Given the description of an element on the screen output the (x, y) to click on. 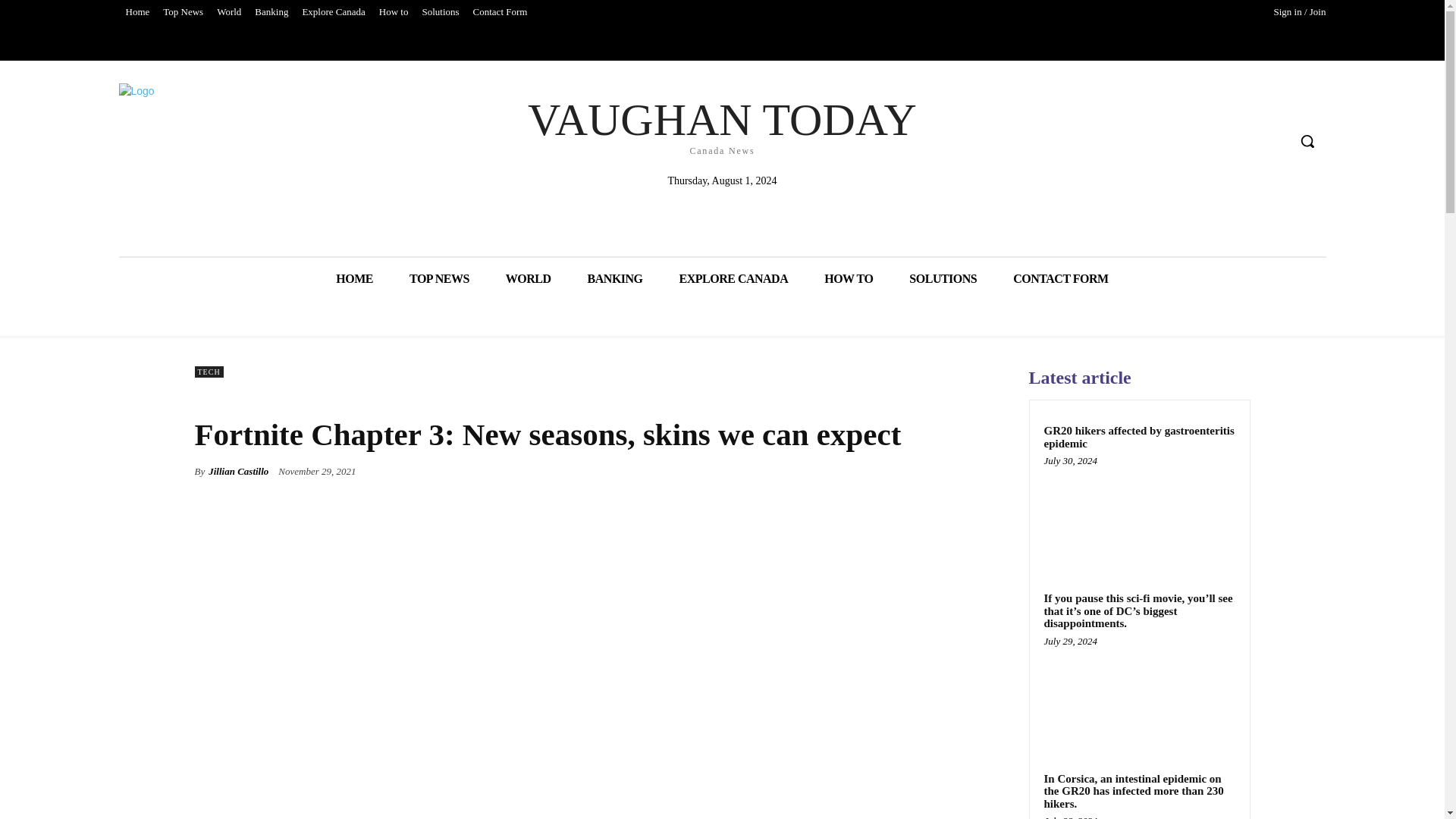
Solutions (439, 12)
World (228, 12)
EXPLORE CANADA (733, 278)
Explore Canada (333, 12)
HOME (721, 124)
Home (354, 278)
Banking (136, 12)
WORLD (271, 12)
How to (528, 278)
TOP NEWS (393, 12)
HOW TO (439, 278)
Top News (848, 278)
BANKING (182, 12)
Contact Form (615, 278)
